Given the description of an element on the screen output the (x, y) to click on. 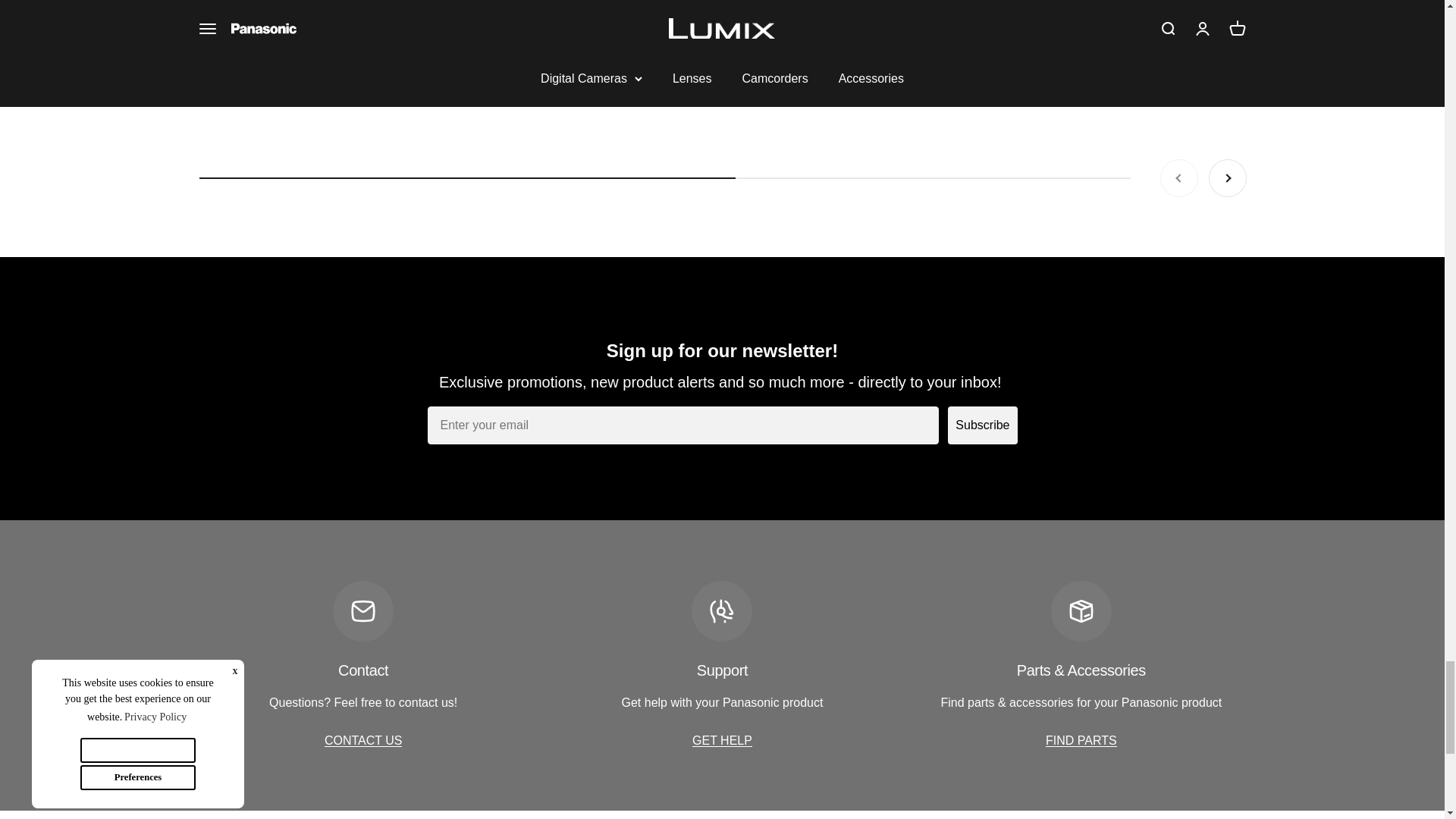
Contact (363, 739)
